Given the description of an element on the screen output the (x, y) to click on. 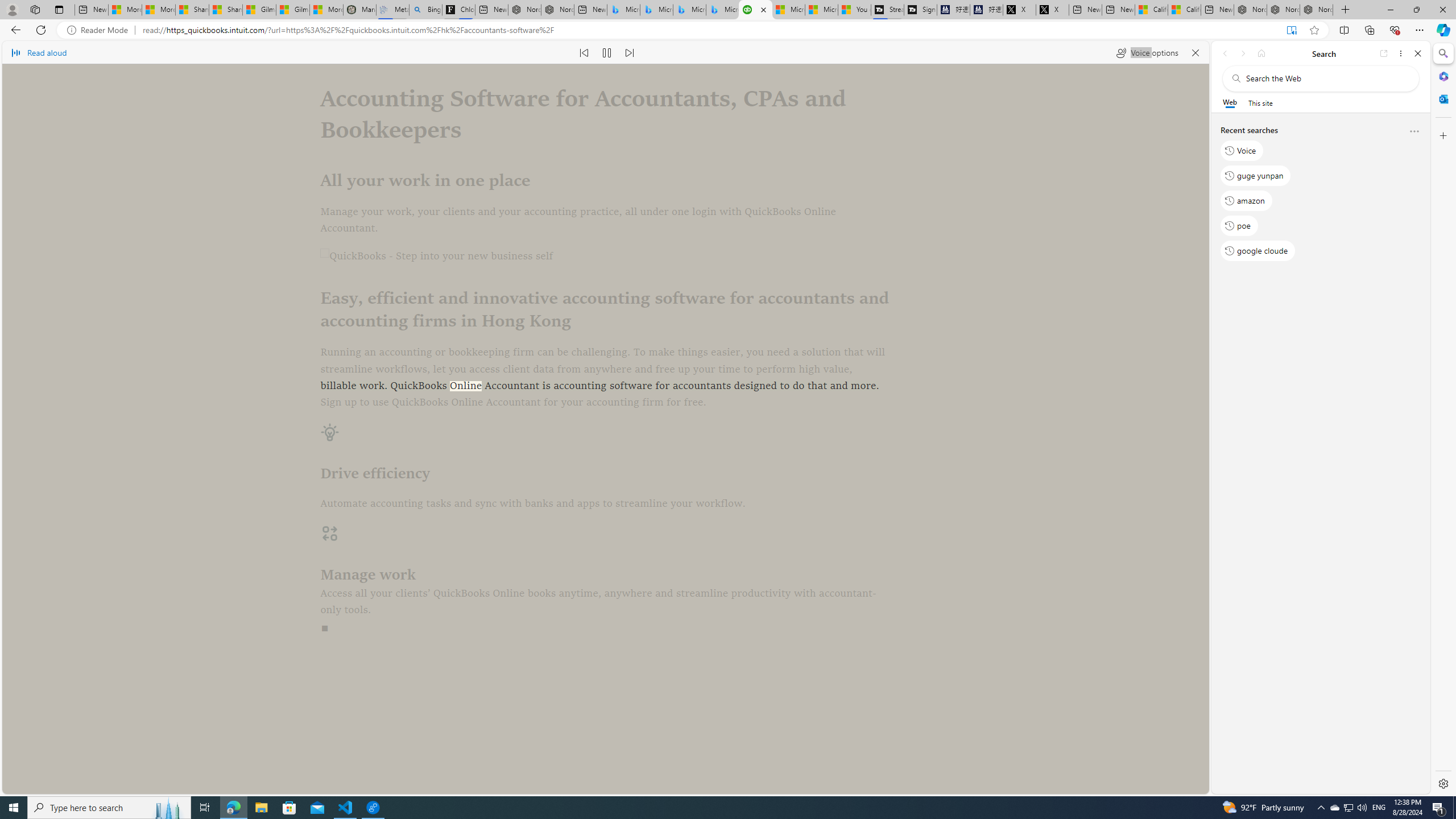
guge yunpan (1255, 175)
Exit Immersive Reader (F9) (1291, 29)
google cloude (1257, 250)
amazon (1246, 200)
Bing Real Estate - Home sales and rental listings (425, 9)
Nordace Siena Pro 15 Backpack (1283, 9)
Voice (1241, 150)
